Given the description of an element on the screen output the (x, y) to click on. 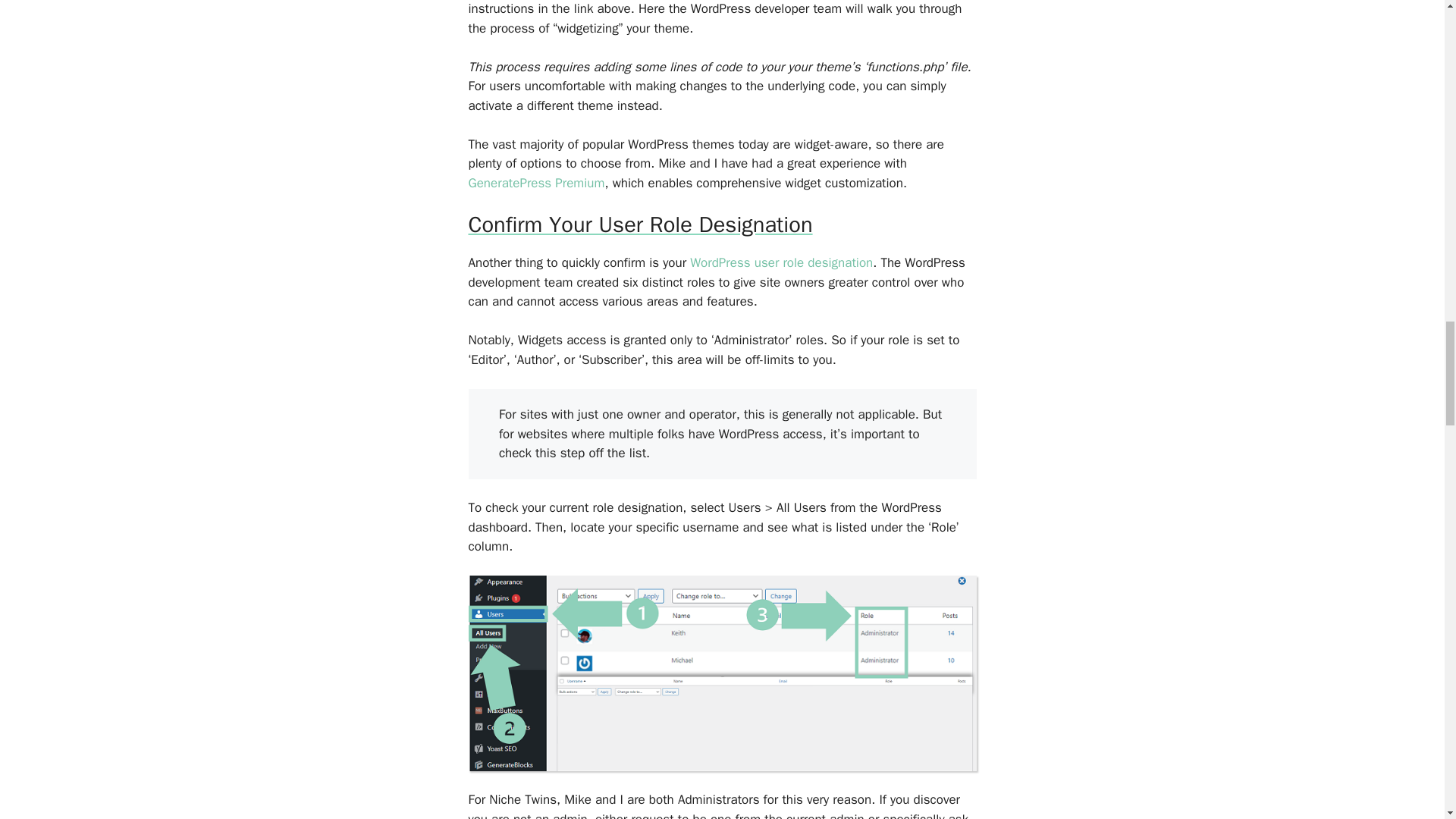
WordPress user role designation (781, 262)
GeneratePress Premium (536, 182)
